Given the description of an element on the screen output the (x, y) to click on. 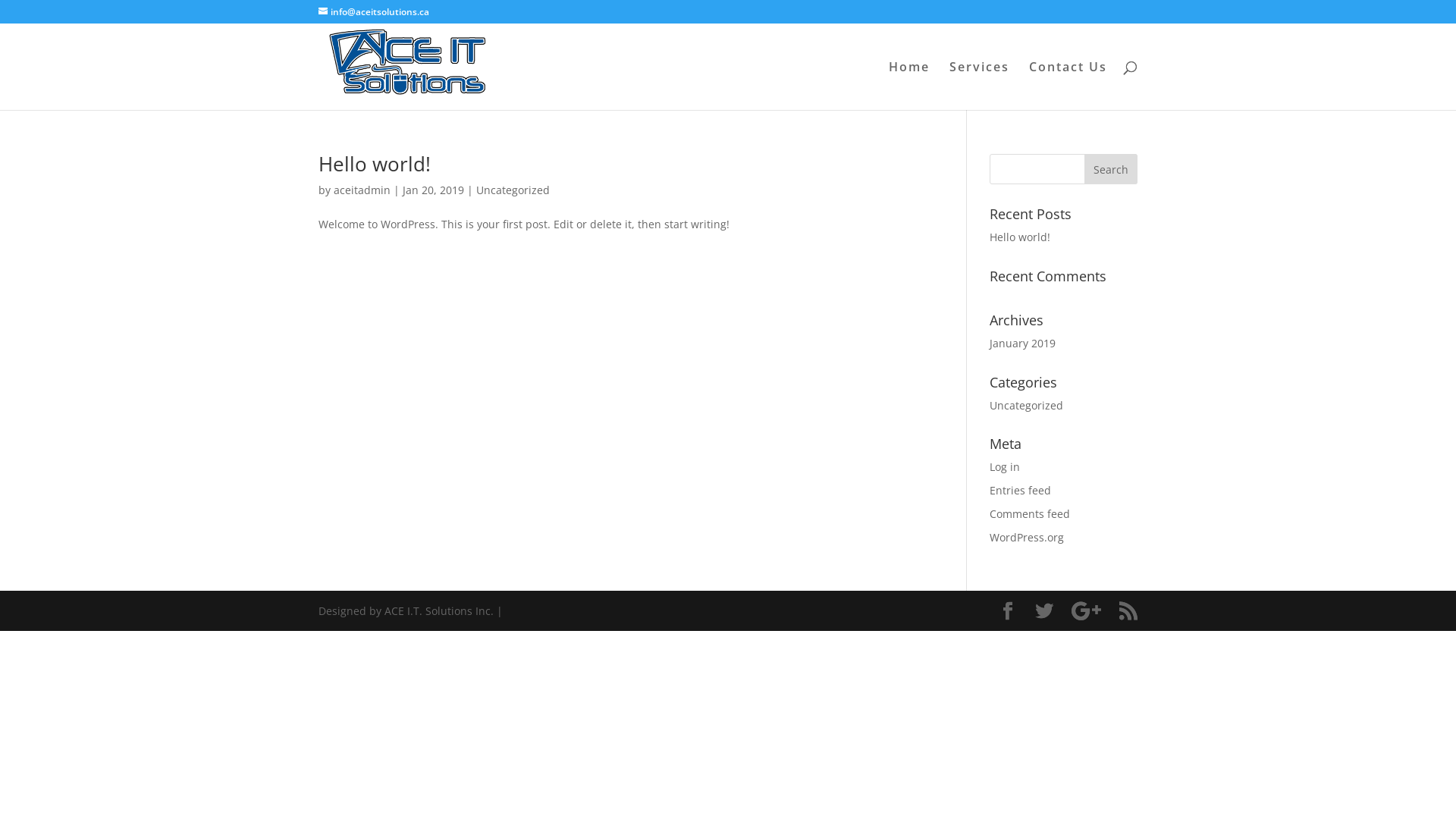
Services Element type: text (979, 85)
Log in Element type: text (1004, 466)
Comments feed Element type: text (1029, 513)
January 2019 Element type: text (1022, 342)
WordPress.org Element type: text (1026, 537)
Home Element type: text (908, 85)
Entries feed Element type: text (1020, 490)
Uncategorized Element type: text (512, 189)
Hello world! Element type: text (1019, 236)
Search Element type: text (1110, 168)
info@aceitsolutions.ca Element type: text (373, 11)
Hello world! Element type: text (374, 163)
aceitadmin Element type: text (361, 189)
Uncategorized Element type: text (1026, 405)
Contact Us Element type: text (1068, 85)
